Given the description of an element on the screen output the (x, y) to click on. 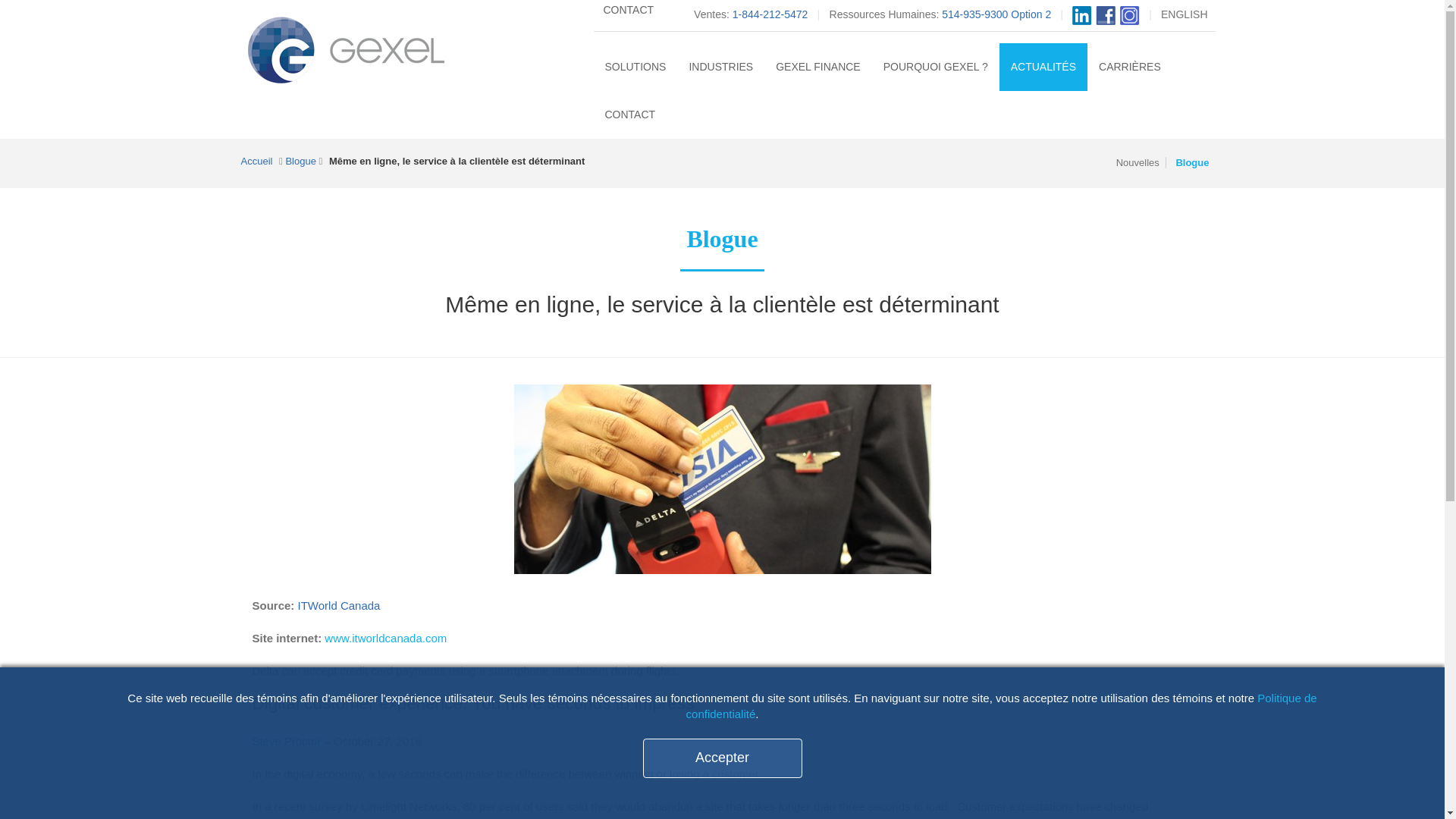
INDUSTRIES (720, 66)
ENGLISH (1183, 14)
SOLUTIONS (634, 66)
CONTACT (627, 13)
